Given the description of an element on the screen output the (x, y) to click on. 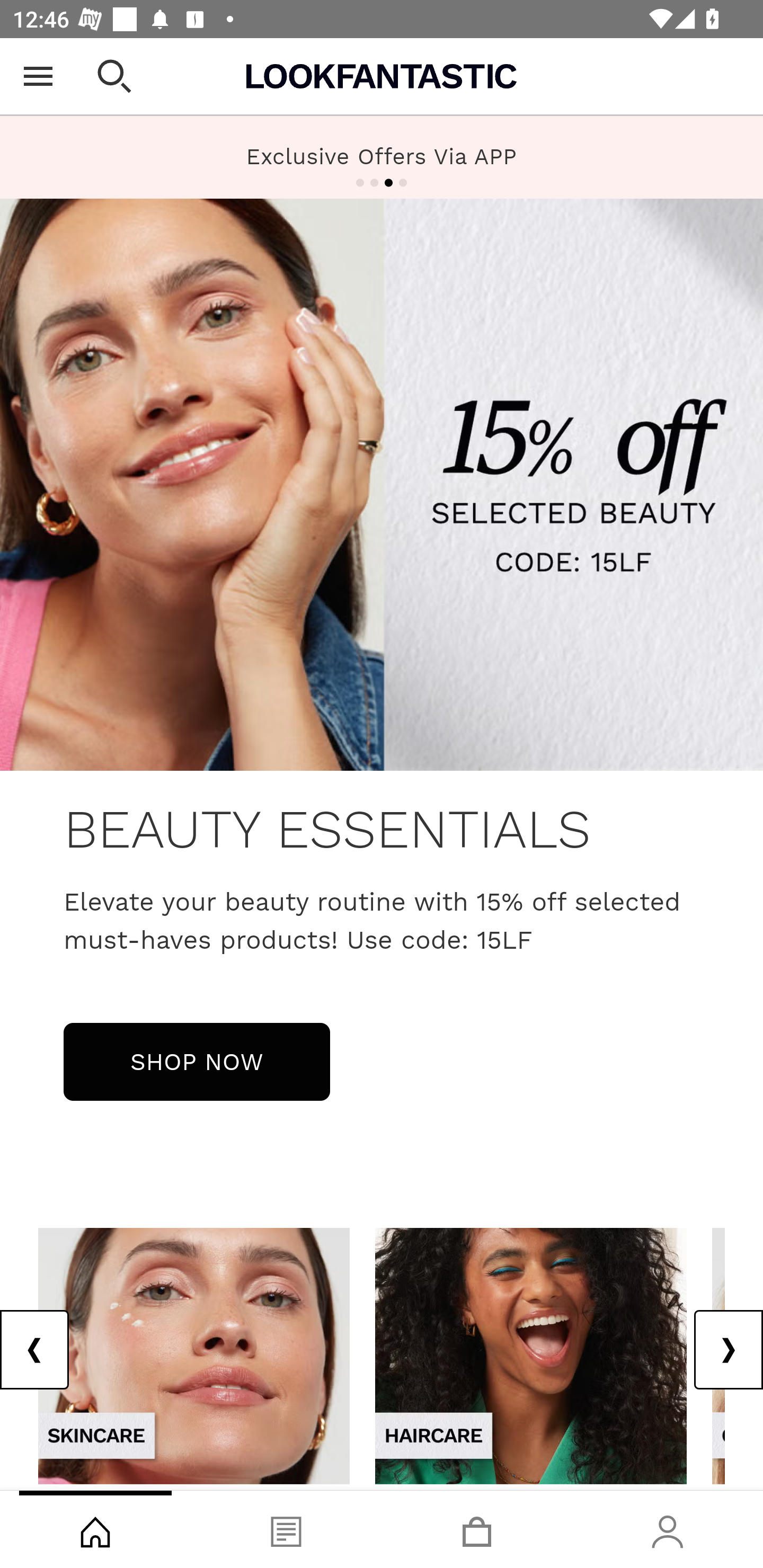
Open Menu (38, 75)
Open search (114, 75)
Lookfantastic USA (381, 75)
SHOP NOW (196, 1061)
view-all (193, 1355)
view-all (530, 1355)
Previous (35, 1349)
Next (727, 1349)
Shop, tab, 1 of 4 (95, 1529)
Blog, tab, 2 of 4 (285, 1529)
Basket, tab, 3 of 4 (476, 1529)
Account, tab, 4 of 4 (667, 1529)
